Given the description of an element on the screen output the (x, y) to click on. 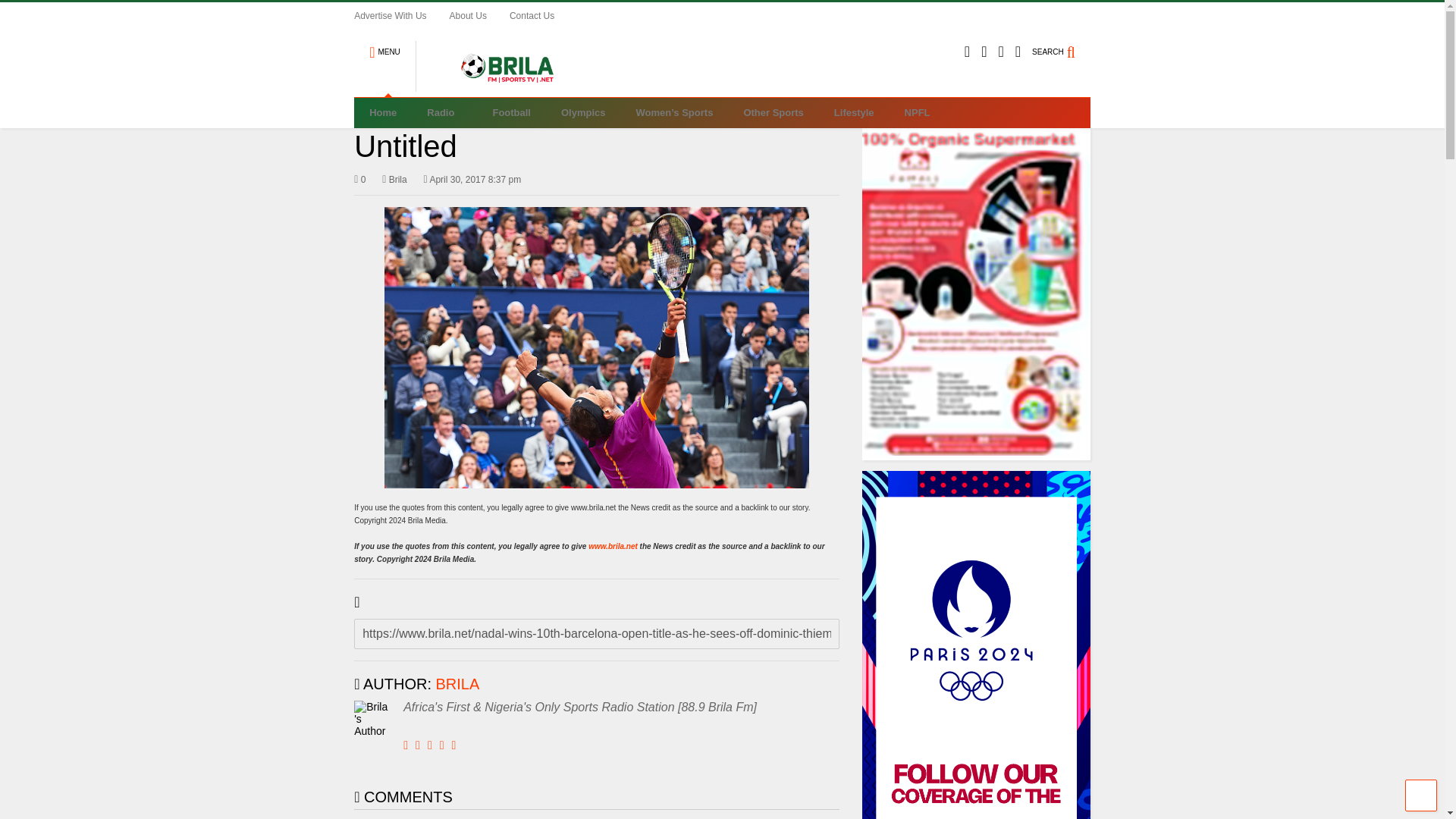
author profile (457, 683)
April 30, 2017 8:37 pm (472, 179)
Lifestyle (853, 112)
BRILA (457, 683)
About Us (479, 15)
Latest Sports News In Nigeria (498, 84)
permanent link (472, 179)
SEARCH (1061, 45)
Brila (393, 179)
Football (511, 112)
Brila (393, 179)
Other Sports (773, 112)
www.brila.net (612, 546)
Advertise With Us (400, 15)
